Given the description of an element on the screen output the (x, y) to click on. 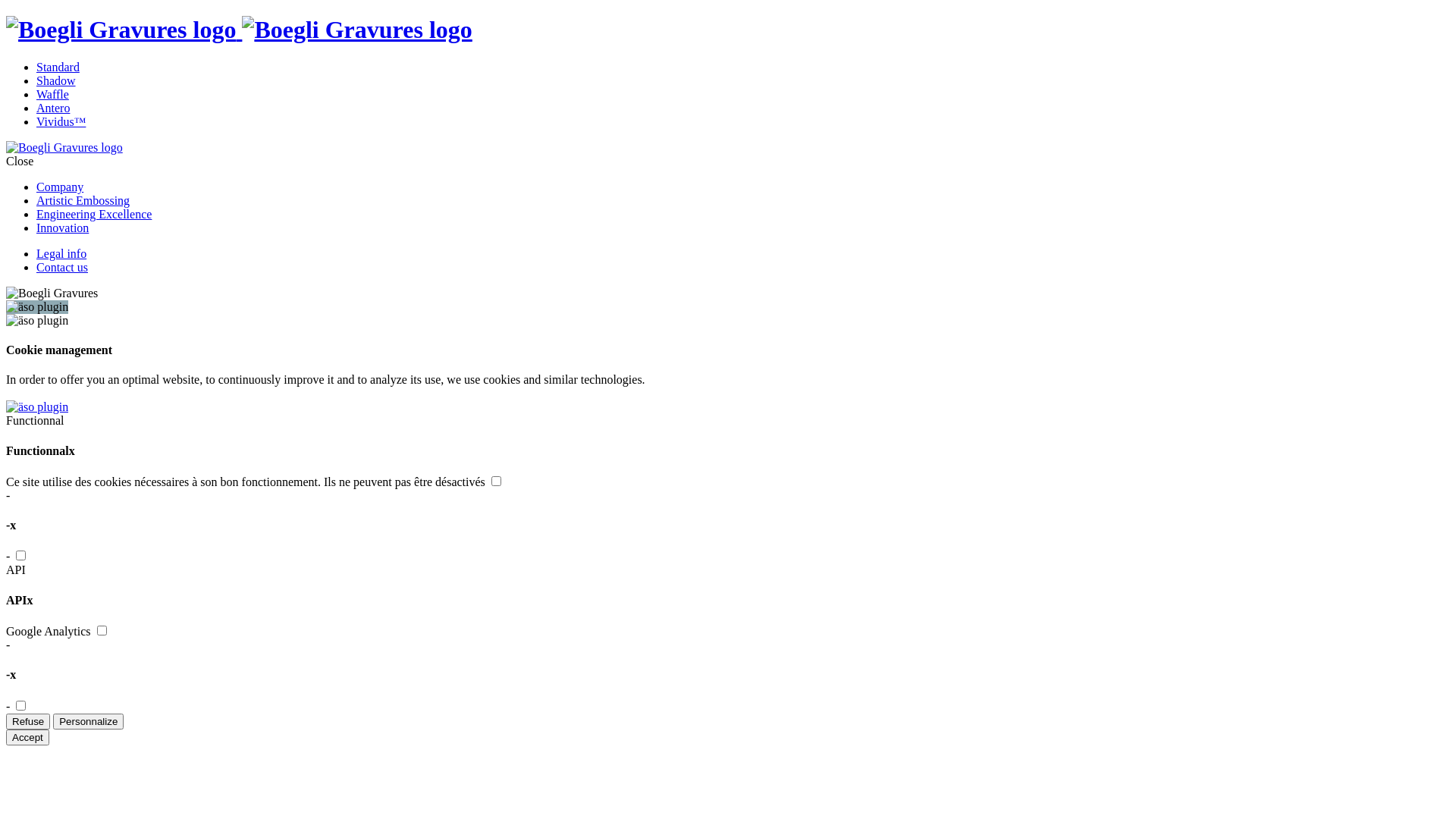
Artistic Embossing Element type: text (82, 200)
Legal info Element type: text (61, 253)
Home Element type: hover (239, 29)
Antero Element type: text (52, 107)
Waffle Element type: text (52, 93)
Shadow Element type: text (55, 80)
Innovation Element type: text (62, 227)
Company Element type: text (59, 186)
Engineering Excellence Element type: text (93, 213)
Refuse Element type: text (28, 721)
Personnalize Element type: text (88, 721)
Standard Element type: text (57, 66)
Accept Element type: text (27, 737)
Contact us Element type: text (61, 266)
